Given the description of an element on the screen output the (x, y) to click on. 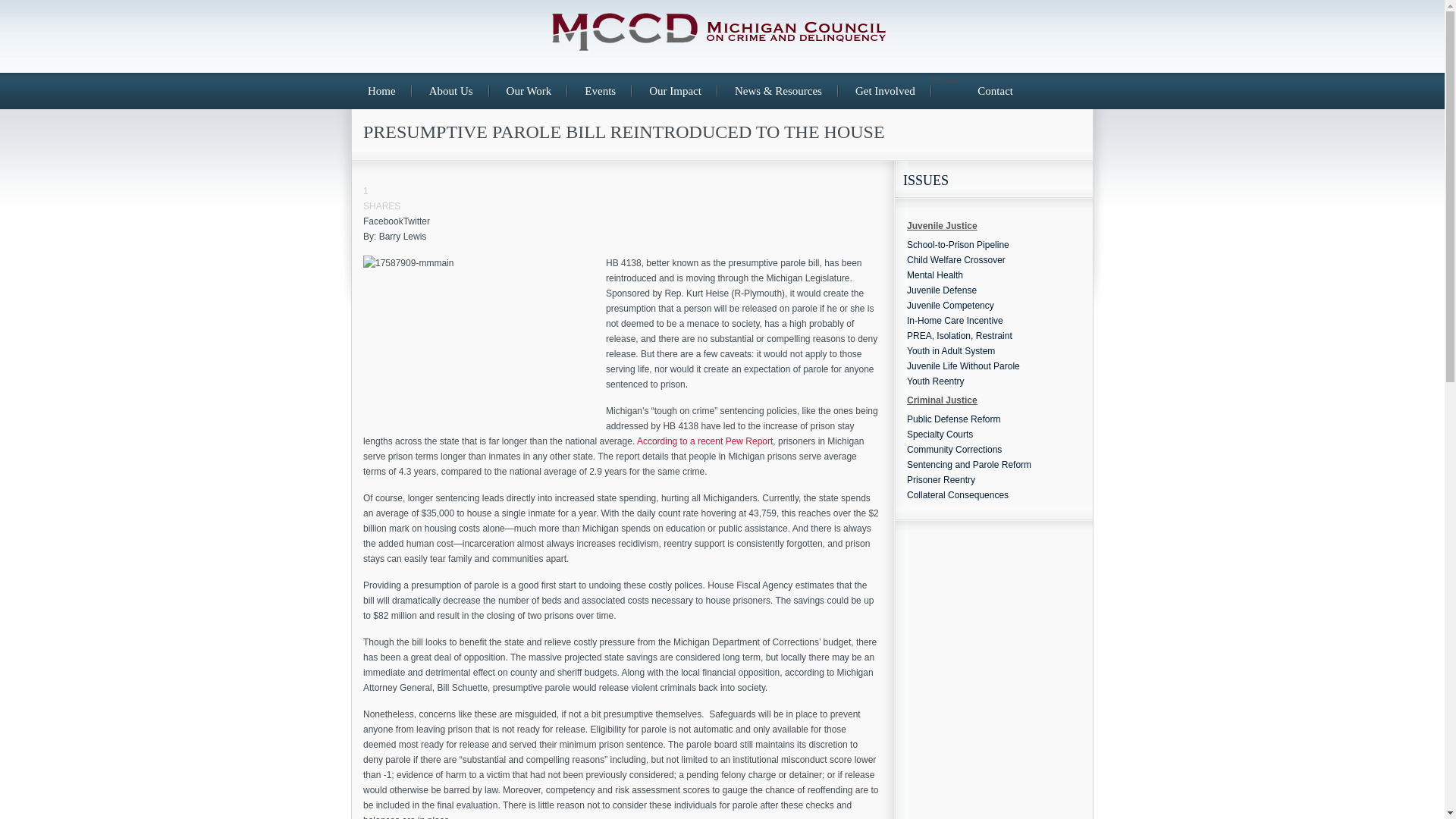
Home (381, 91)
Events (599, 91)
Michigan Council on Crime and Delinquency (722, 44)
About Us (450, 91)
Our Work (529, 91)
Our Impact (674, 91)
